Given the description of an element on the screen output the (x, y) to click on. 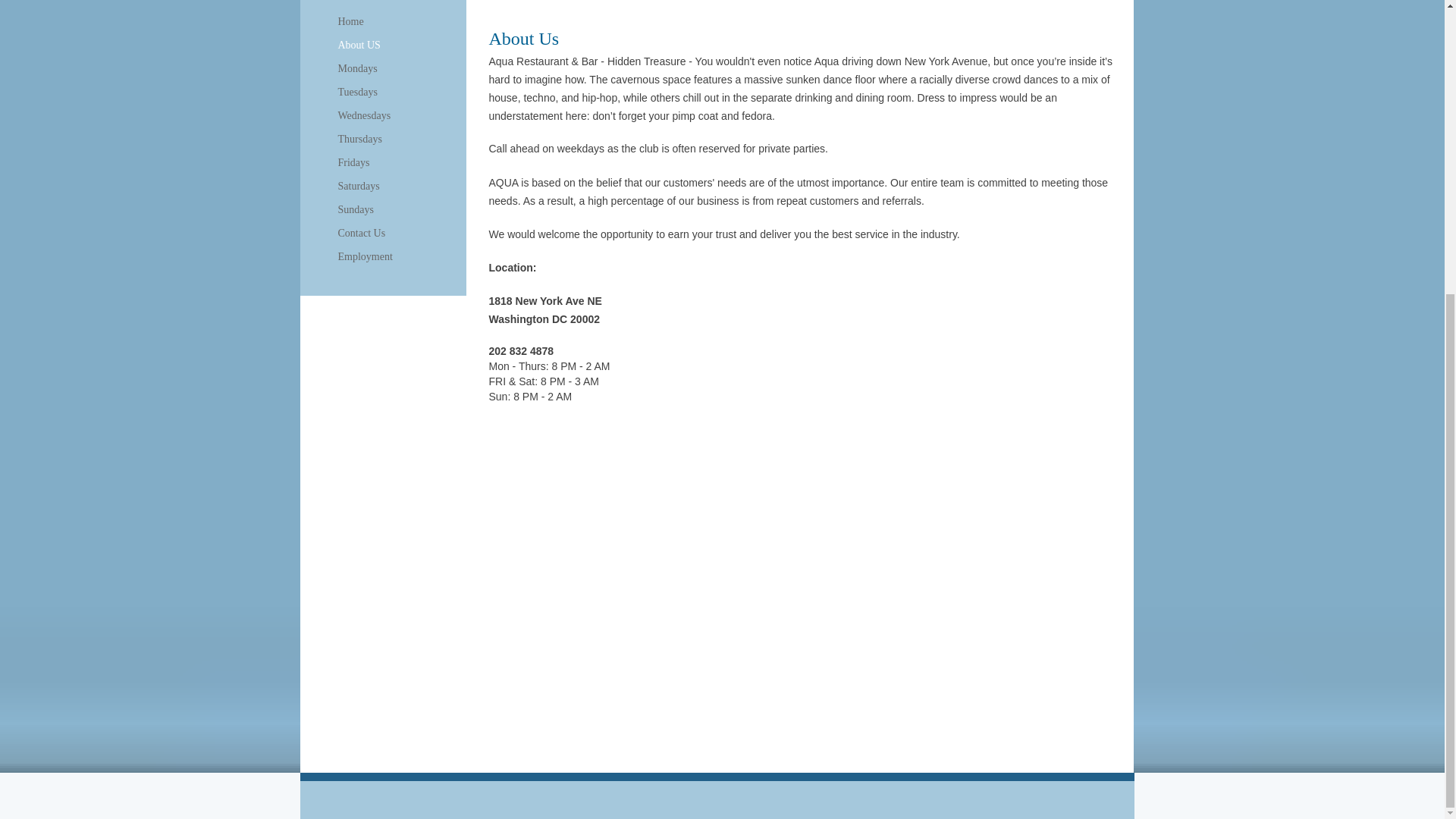
Wednesdays (364, 115)
Sundays (355, 209)
Saturdays (358, 186)
Employment (365, 256)
Mondays (357, 68)
Contact Us (361, 233)
Fridays (353, 162)
About US (359, 45)
Tuesdays (357, 92)
Thursdays (360, 138)
Home (350, 21)
